Given the description of an element on the screen output the (x, y) to click on. 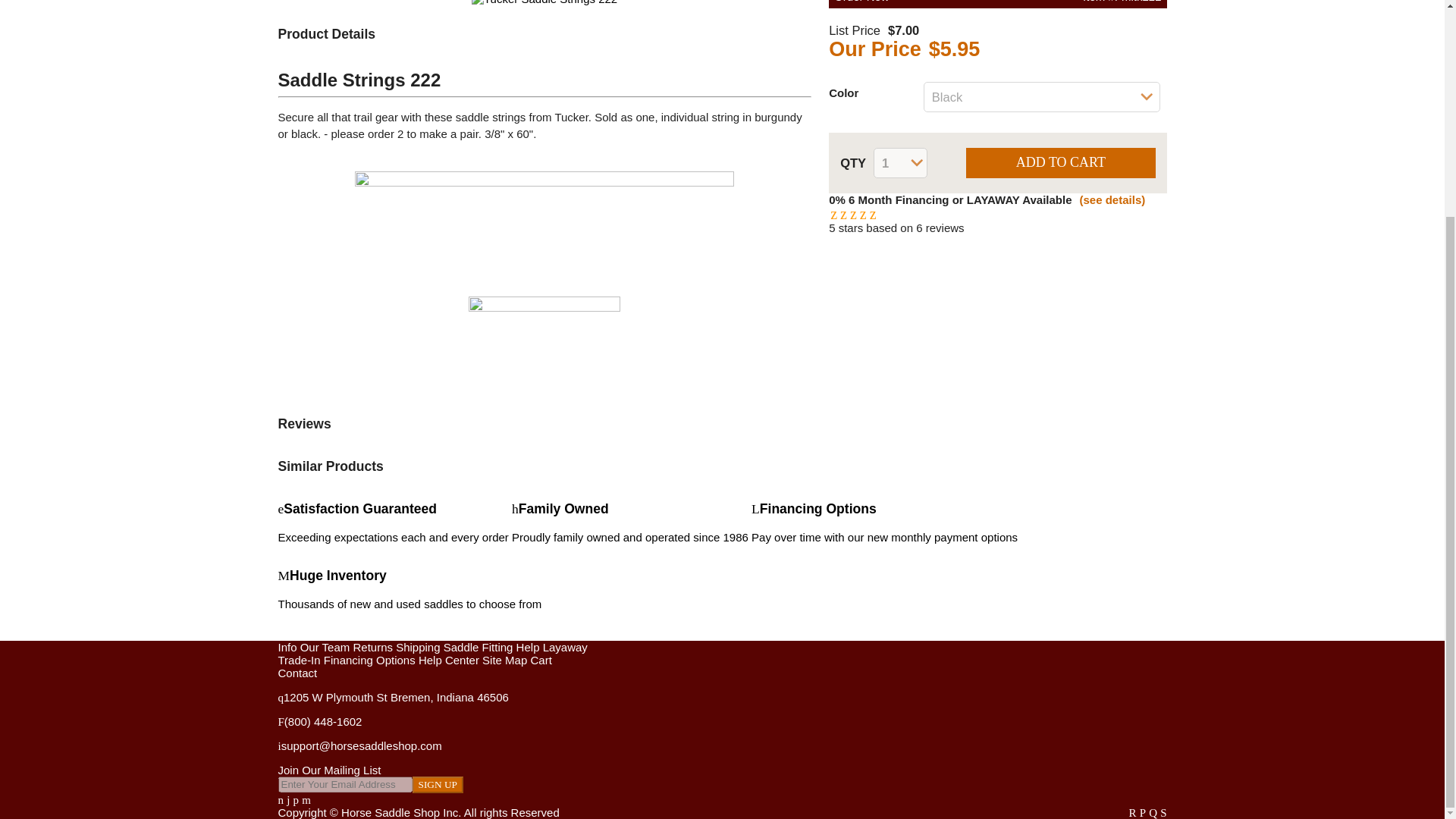
Add To Cart (1060, 163)
Add To Cart (1060, 163)
Sign up (630, 522)
